Given the description of an element on the screen output the (x, y) to click on. 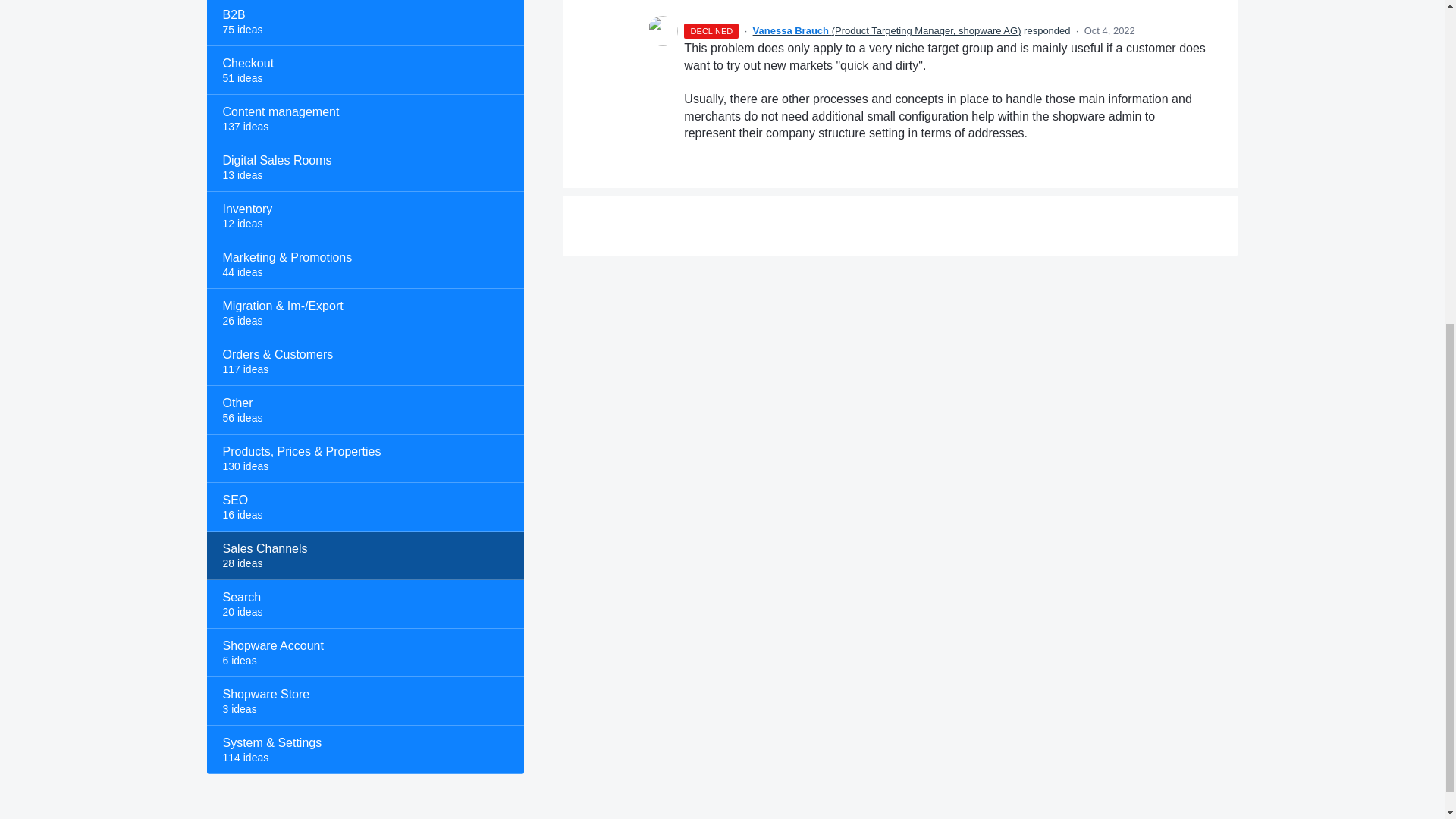
View all ideas in category Digital Sales Rooms (364, 167)
Sales Channels (364, 555)
View all ideas in category B2B  (364, 22)
Checkout (364, 70)
SEO (364, 507)
Inventory (364, 215)
View all ideas in category Shopware Account (364, 652)
Content management (364, 119)
View all ideas in category Checkout (364, 70)
Shopware Account (364, 652)
